Given the description of an element on the screen output the (x, y) to click on. 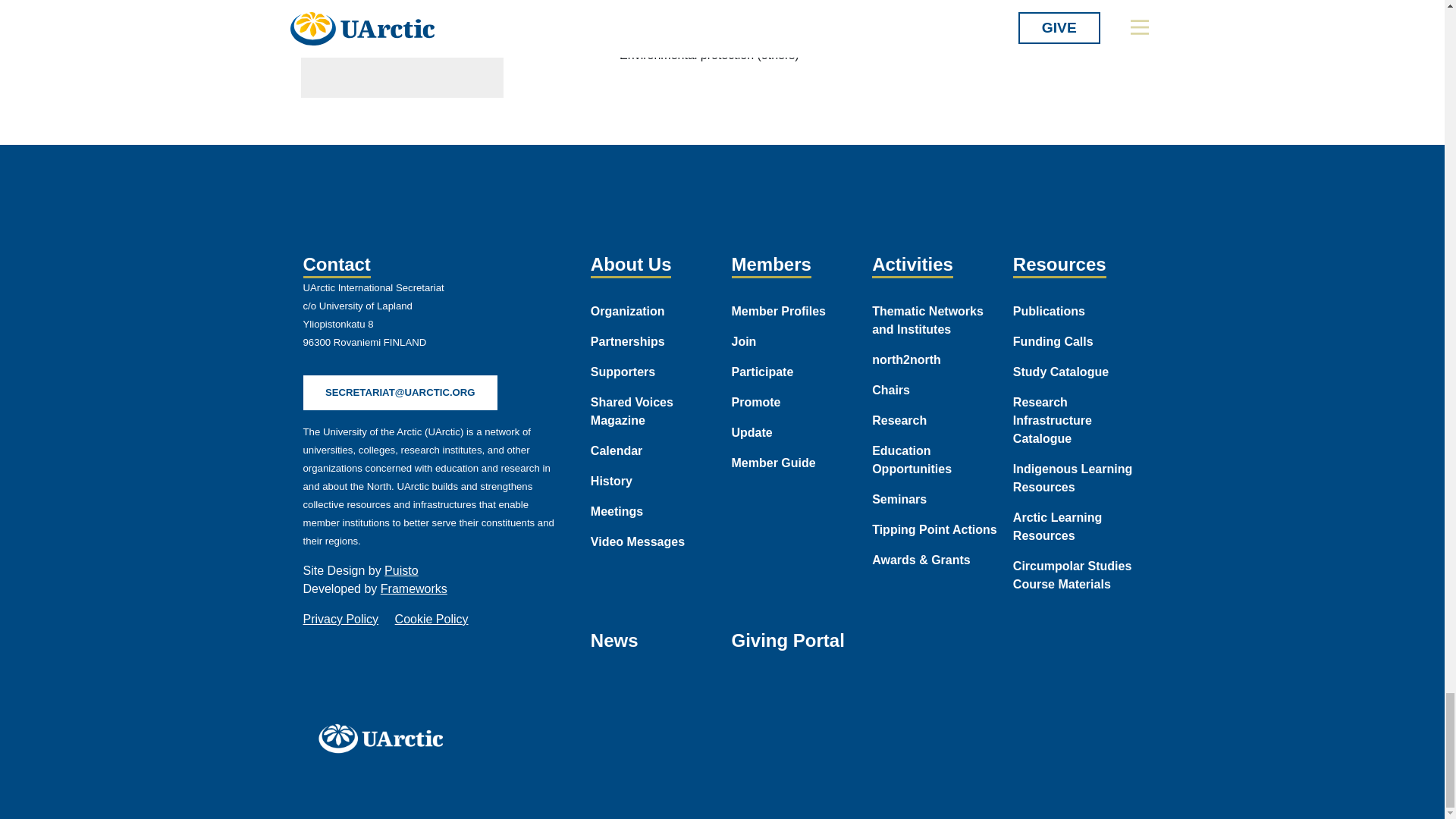
UArctic 2021 (385, 738)
Cookie Policy (431, 618)
Privacy Policy (340, 618)
